Given the description of an element on the screen output the (x, y) to click on. 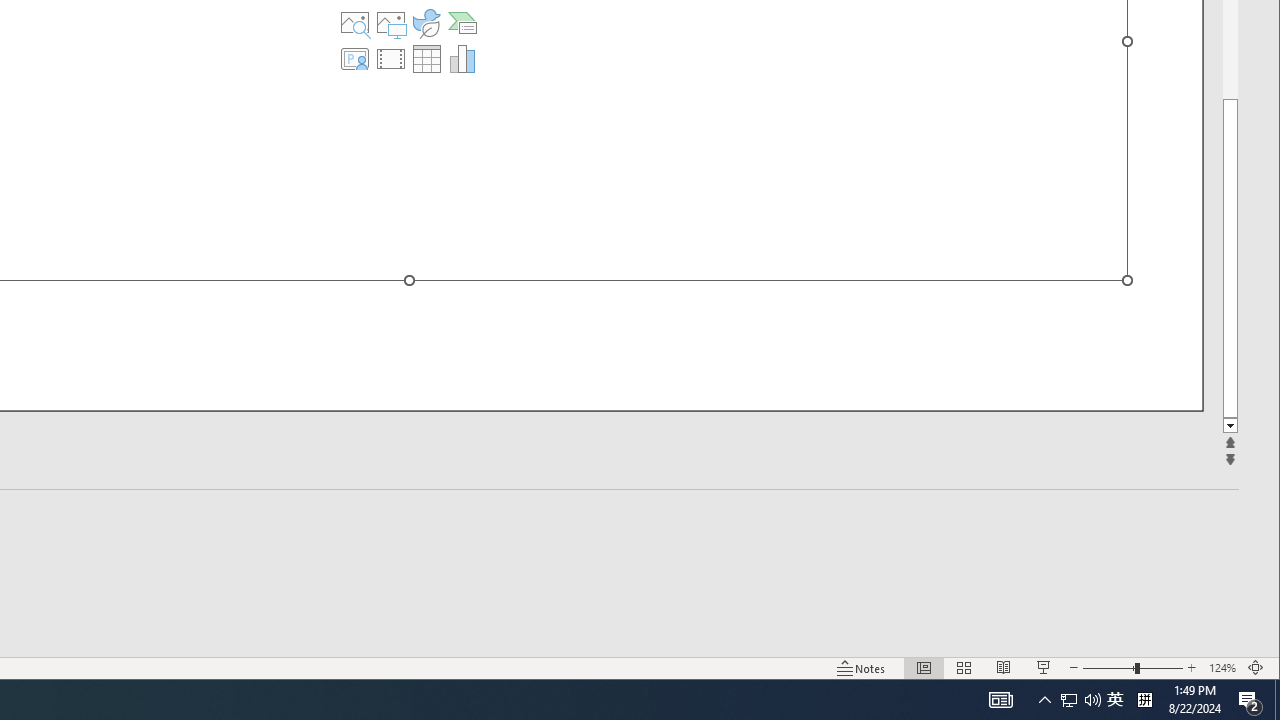
Notes  (1069, 699)
AutomationID: 4105 (861, 668)
Tray Input Indicator - Chinese (Simplified, China) (1000, 699)
Insert a SmartArt Graphic (1144, 699)
Show desktop (462, 22)
Notification Chevron (1277, 699)
Action Center, 2 new notifications (1044, 699)
Insert an Icon (1250, 699)
Zoom 124% (426, 22)
